Given the description of an element on the screen output the (x, y) to click on. 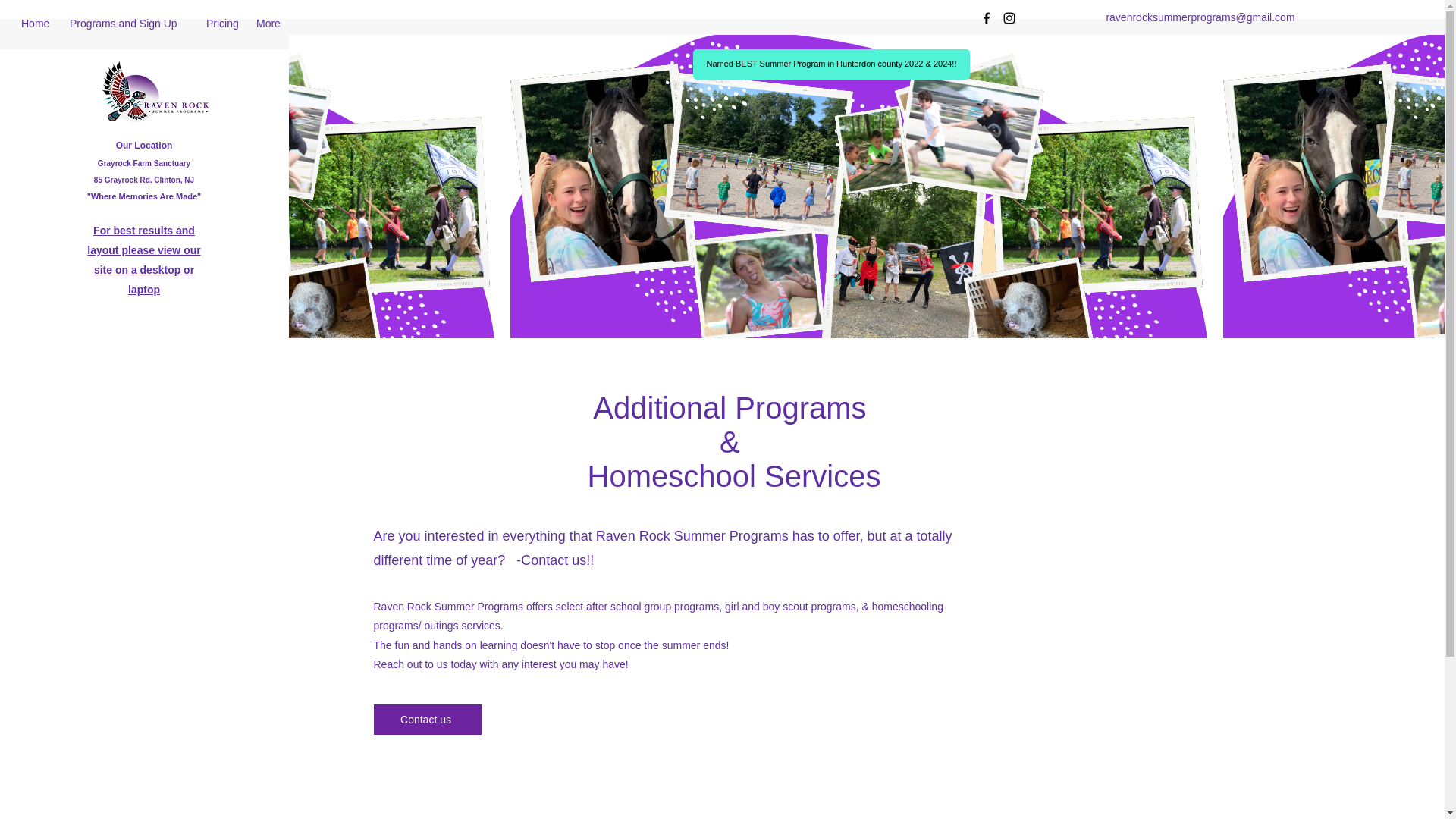
Programs and Sign Up (130, 23)
Home (37, 23)
Pricing (223, 23)
Contact us (426, 719)
